Given the description of an element on the screen output the (x, y) to click on. 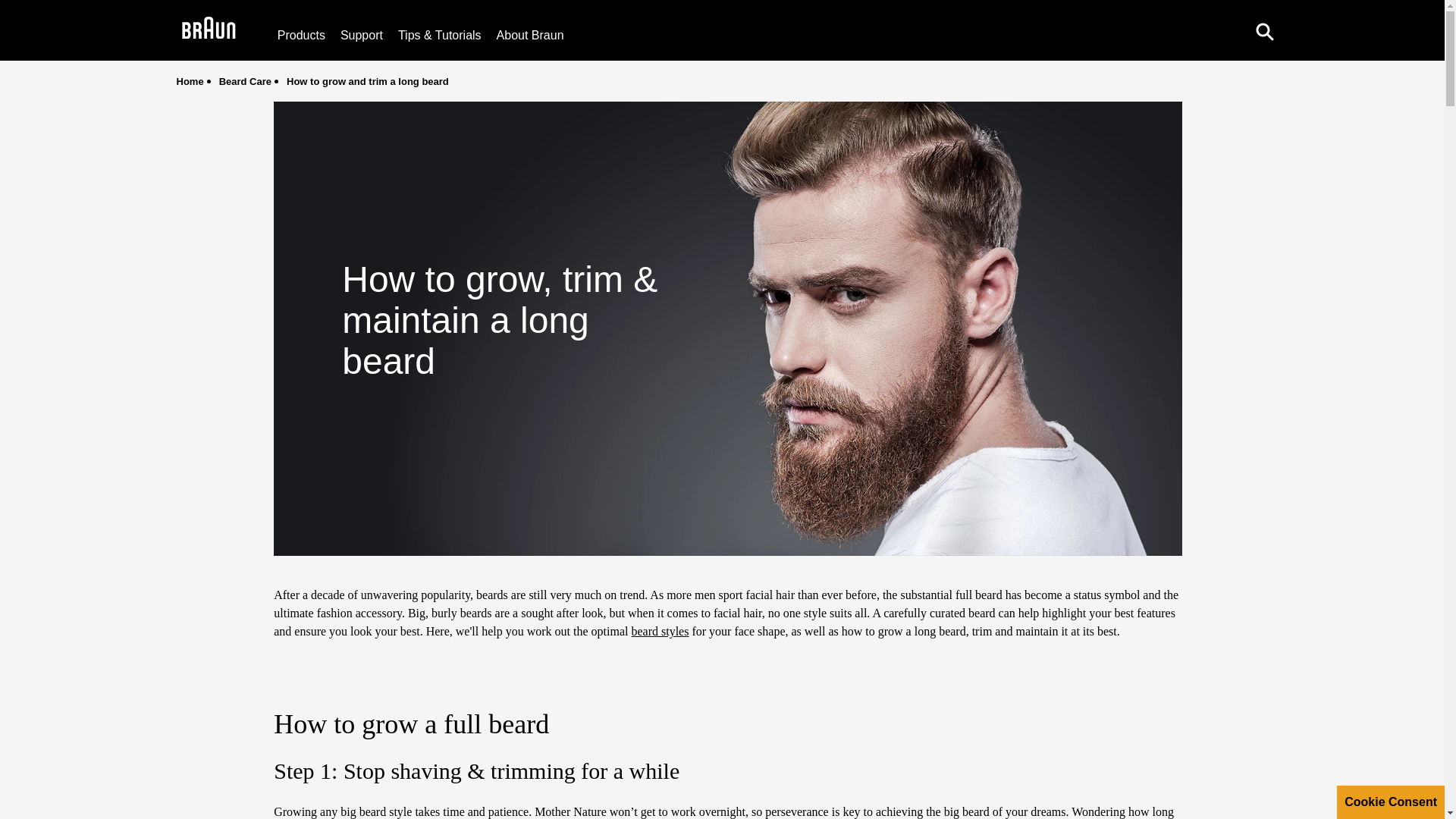
Braun (208, 30)
How to grow and trim a long beard (367, 81)
Support (361, 34)
Home (189, 81)
Support (361, 34)
Home (189, 81)
About Braun (530, 34)
Beard styles for men's face shapes (659, 631)
Beard Care (244, 81)
Beard Care (244, 81)
How to grow and trim a long beard (367, 81)
beard styles (659, 631)
About Braun (530, 34)
